Given the description of an element on the screen output the (x, y) to click on. 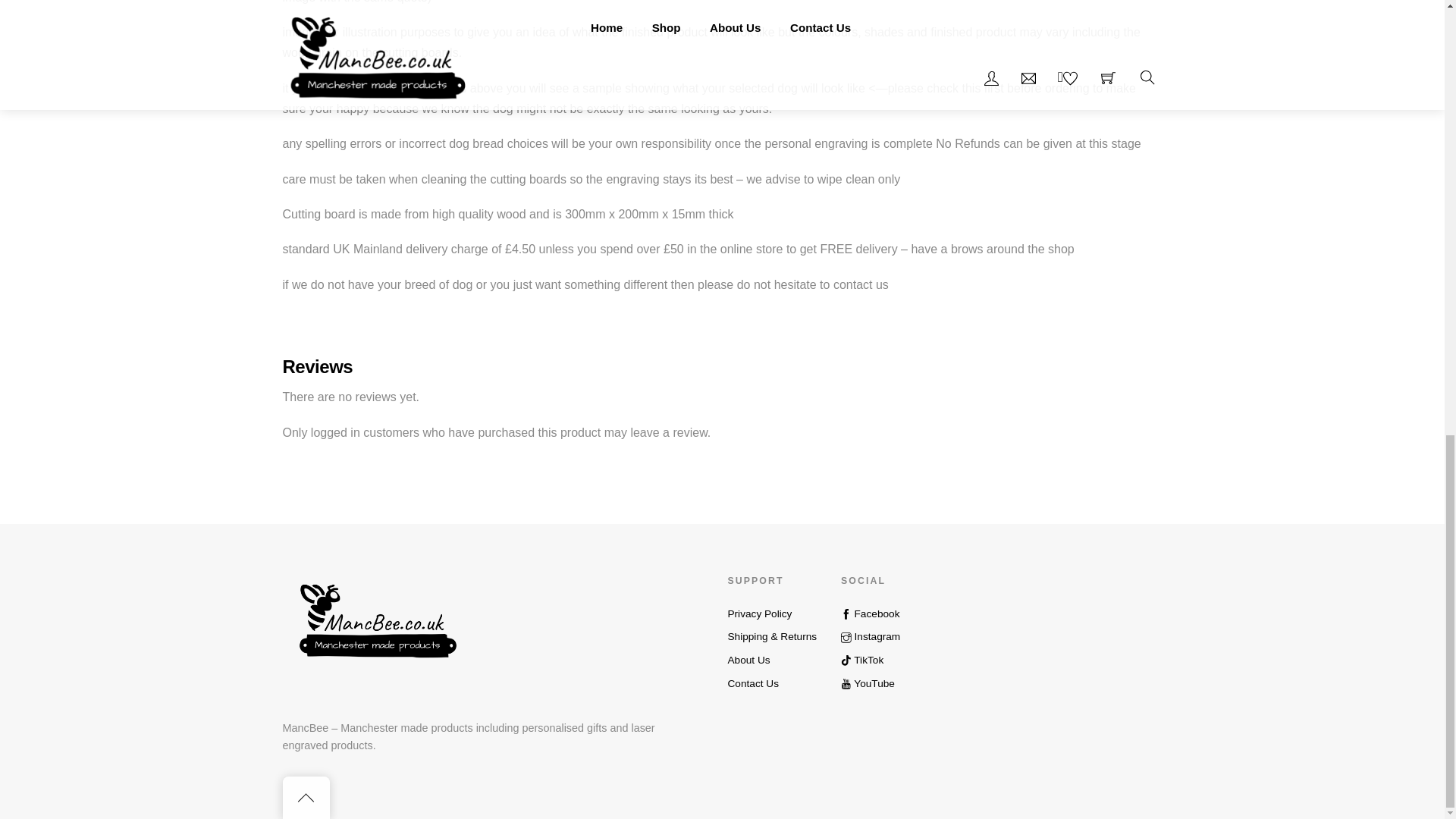
Contact Us (752, 683)
About Us (748, 659)
Privacy Policy (759, 613)
